Given the description of an element on the screen output the (x, y) to click on. 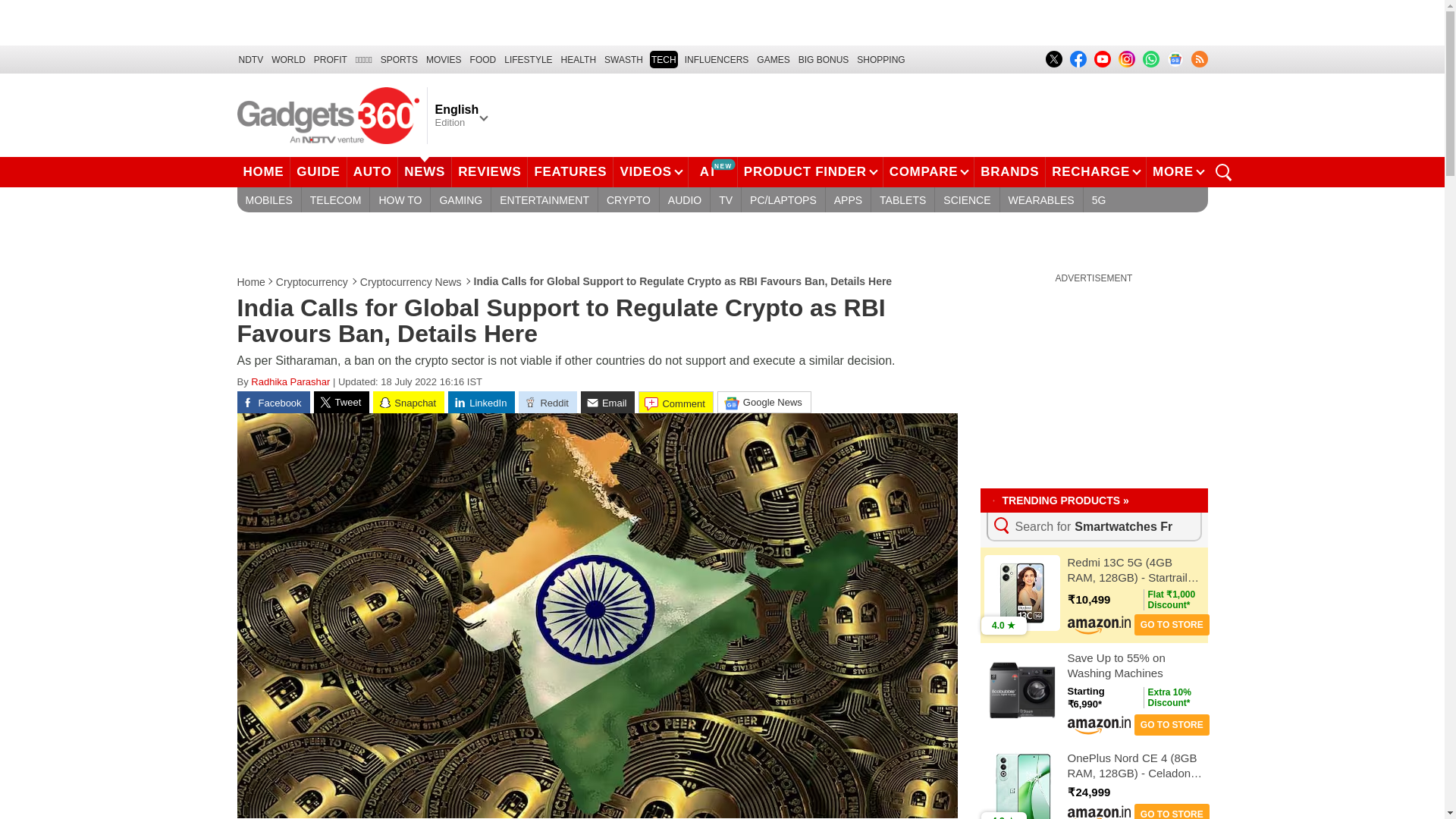
VIDEOS (649, 172)
REVIEWS (489, 172)
Games (772, 58)
TECH (663, 58)
FOOD (482, 58)
SWASTH (623, 58)
Sports (398, 58)
World (288, 58)
NEWS (424, 172)
SWASTH (623, 58)
